Given the description of an element on the screen output the (x, y) to click on. 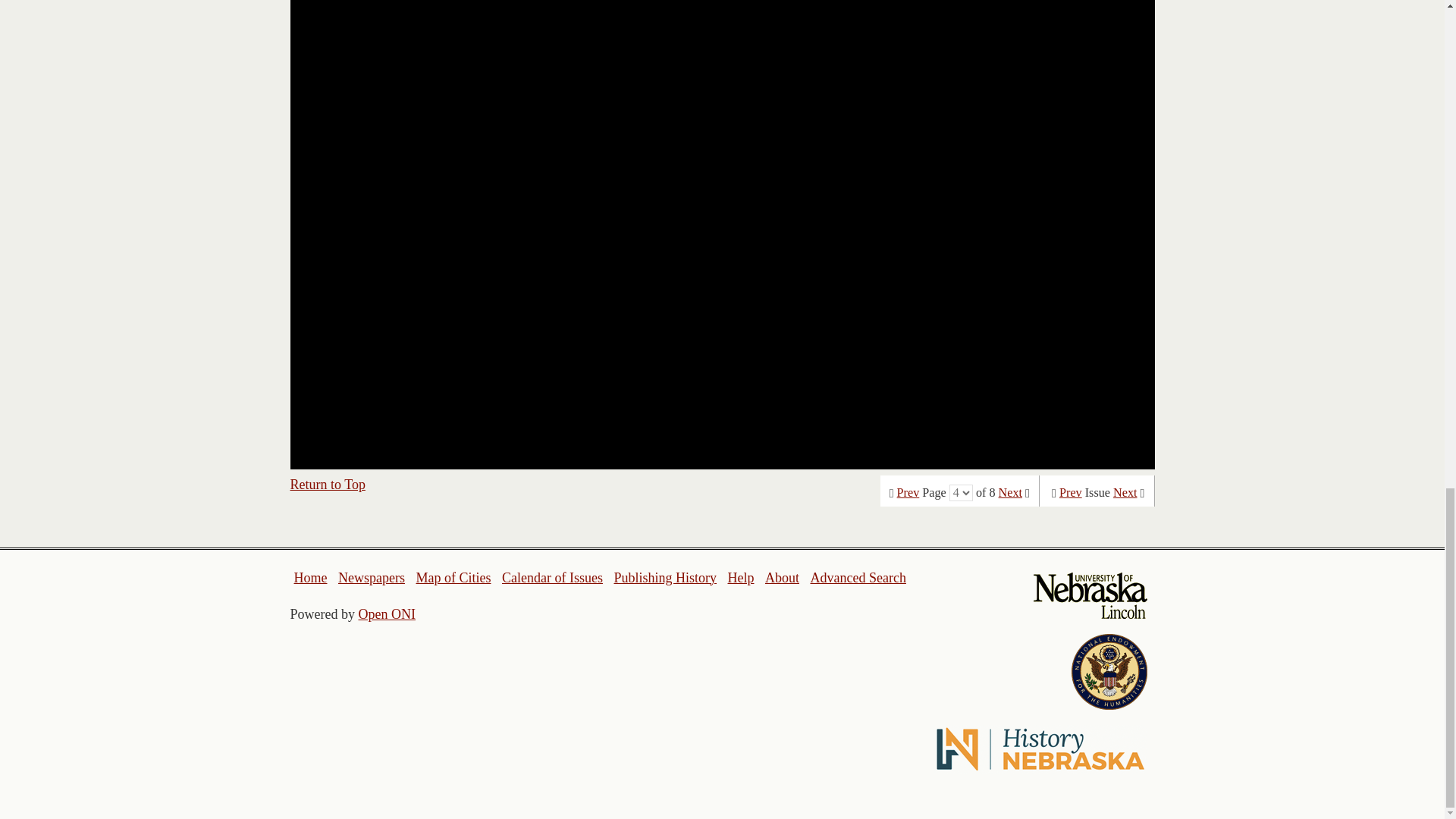
About (782, 577)
Newspapers (370, 577)
Open ONI (386, 613)
Next (1010, 492)
Return to Top (327, 484)
Map of Cities (452, 577)
Next (1125, 492)
Prev (1070, 492)
Prev (908, 492)
Calendar of Issues (552, 577)
